Given the description of an element on the screen output the (x, y) to click on. 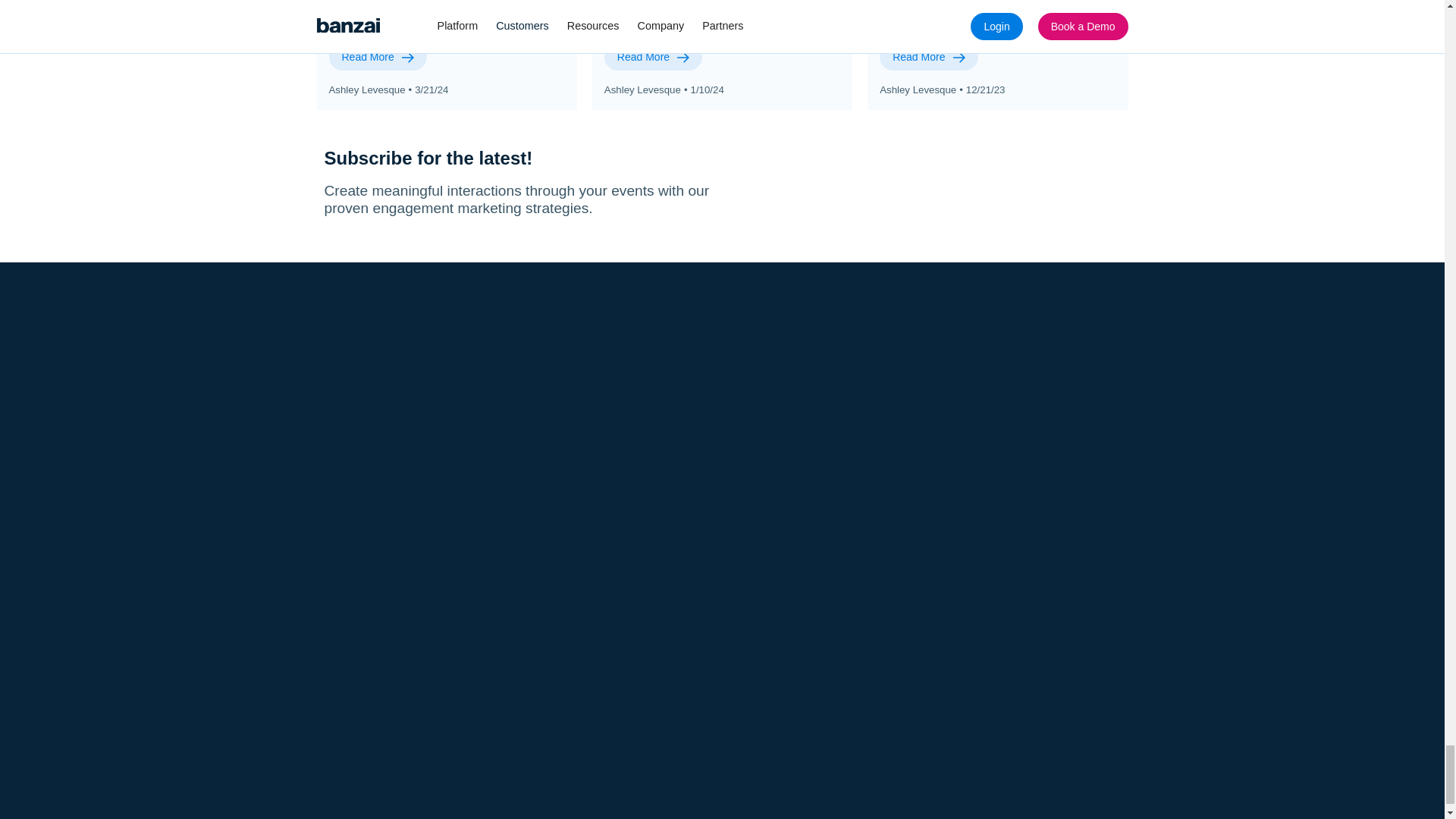
Arrow Right (959, 57)
Arrow Right (682, 57)
Arrow Right (407, 57)
